Given the description of an element on the screen output the (x, y) to click on. 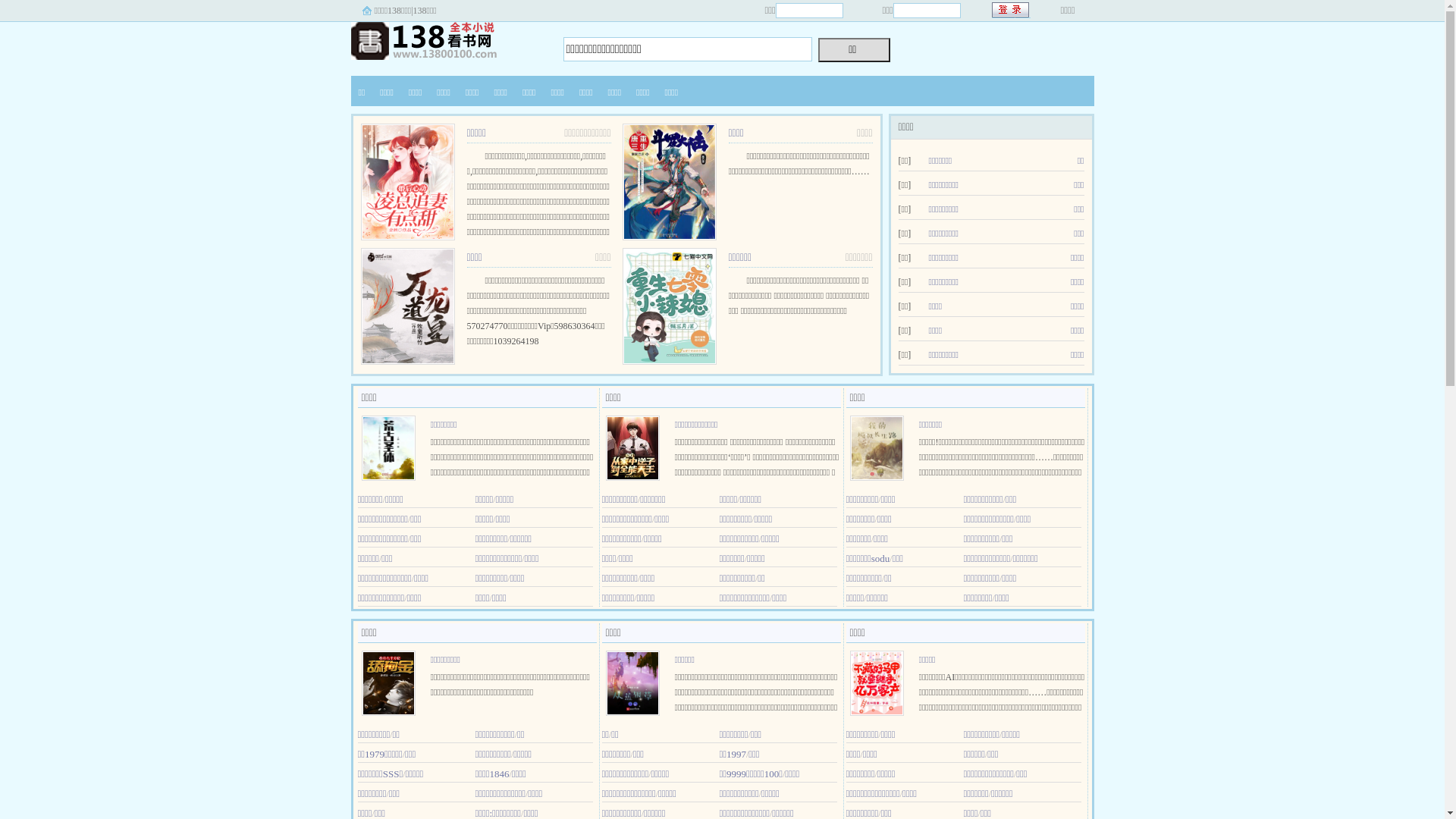
  Element type: text (1010, 10)
